Given the description of an element on the screen output the (x, y) to click on. 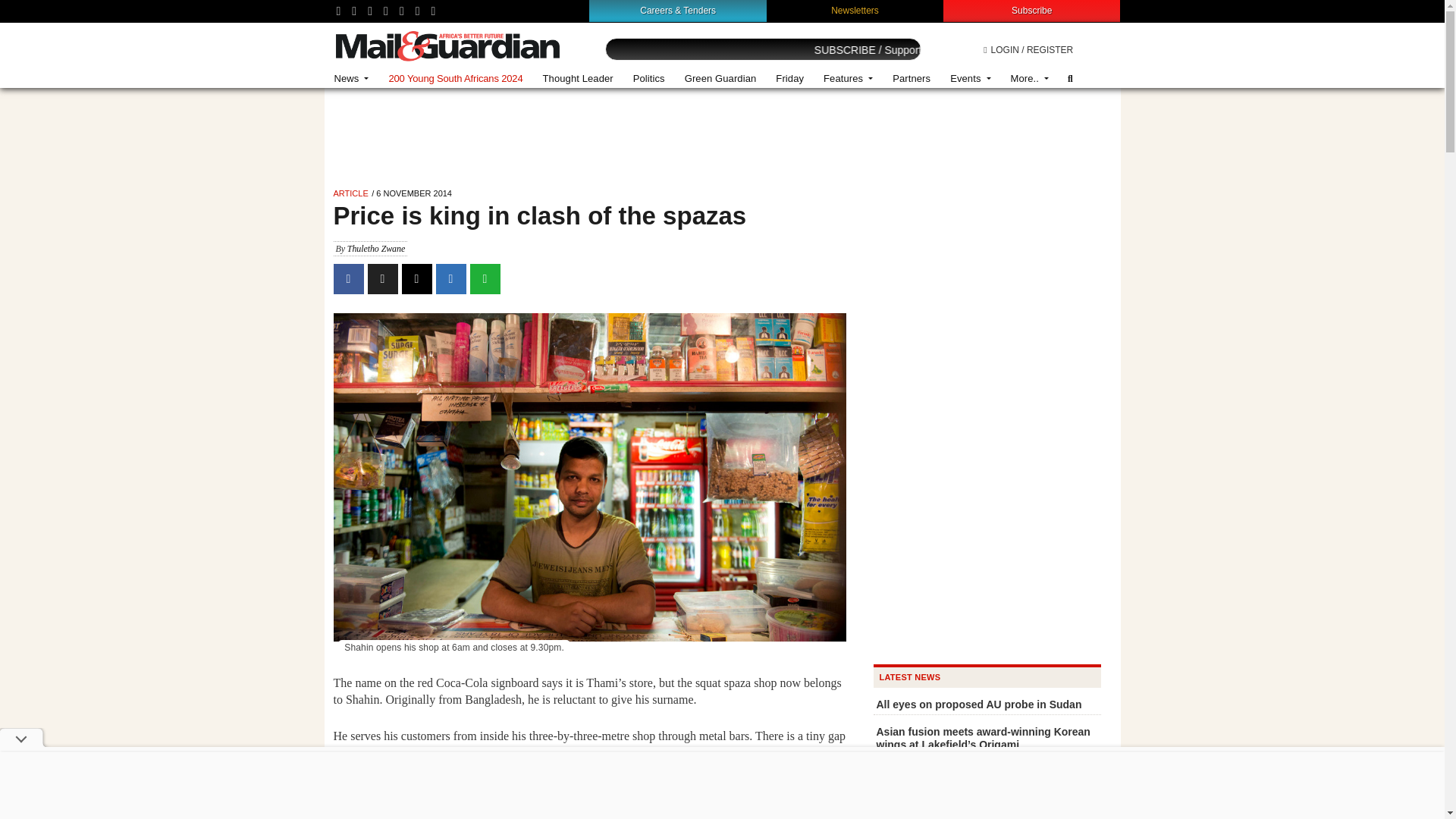
Subscribe (1031, 9)
200 Young South Africans 2024 (455, 78)
News (351, 78)
Thought Leader (577, 78)
Politics (649, 78)
Friday (789, 78)
Newsletters (855, 9)
Green Guardian (721, 78)
News (351, 78)
